Given the description of an element on the screen output the (x, y) to click on. 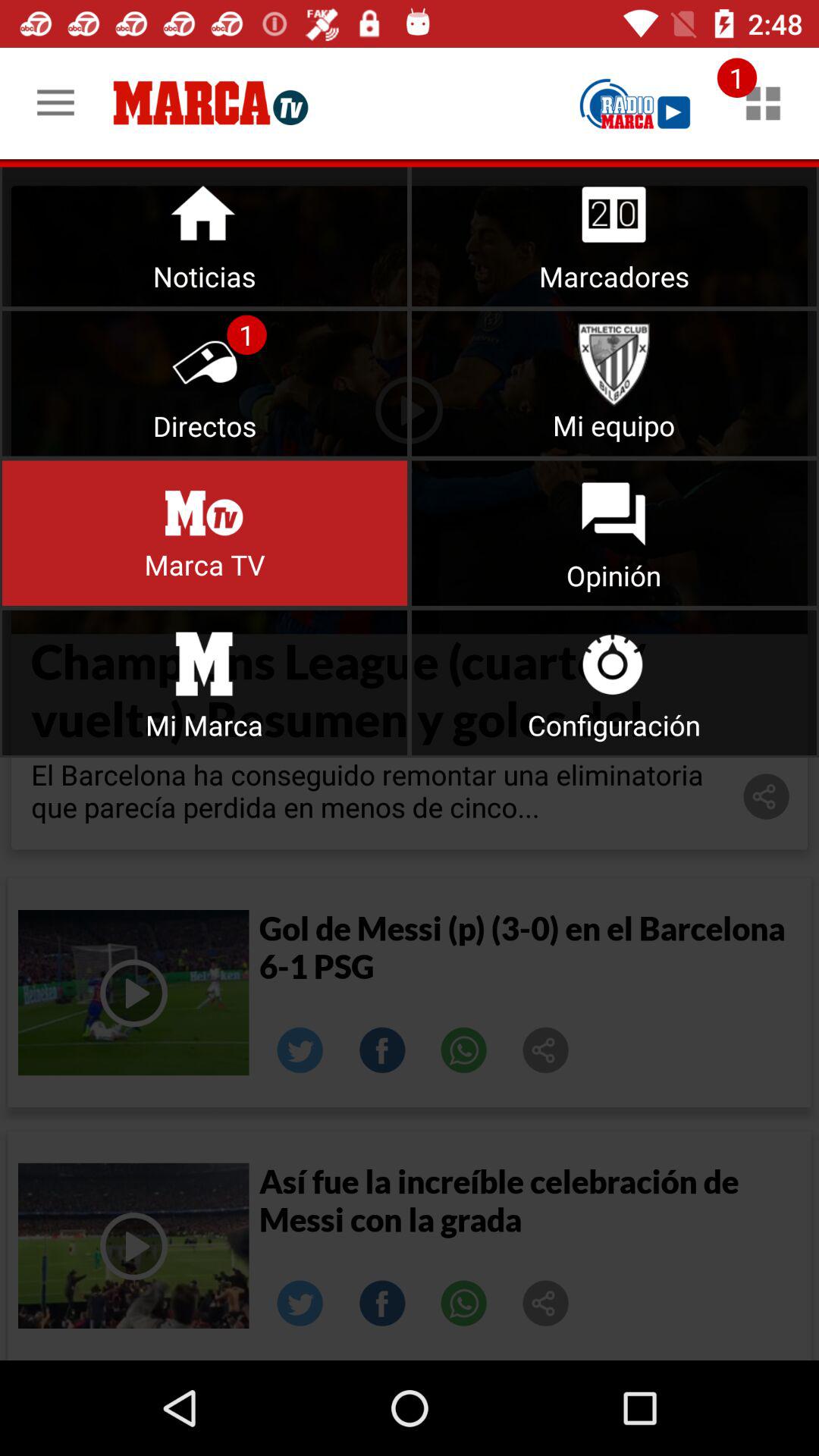
post to facebook (382, 1050)
